Given the description of an element on the screen output the (x, y) to click on. 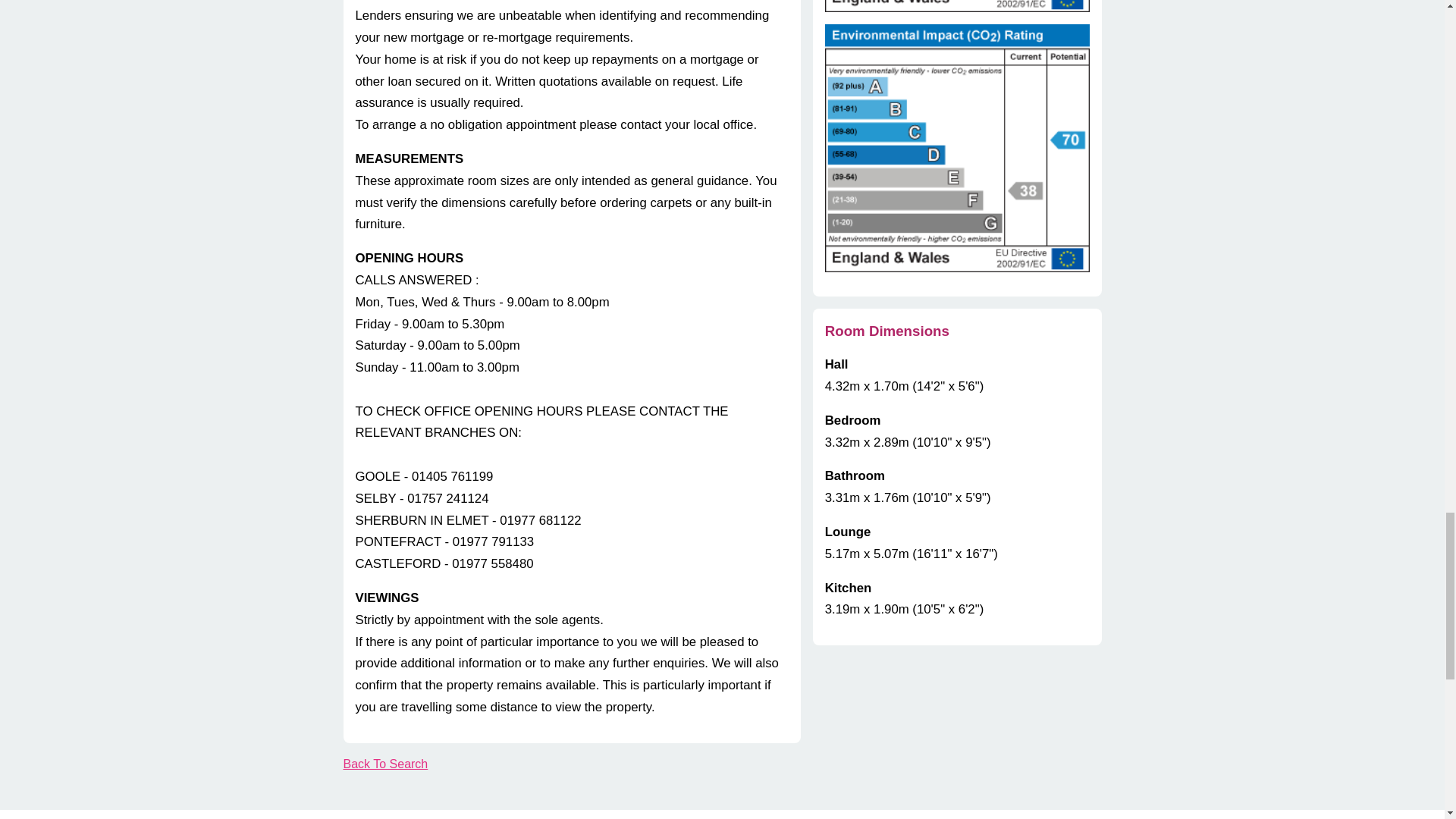
Back To Search (385, 763)
